Given the description of an element on the screen output the (x, y) to click on. 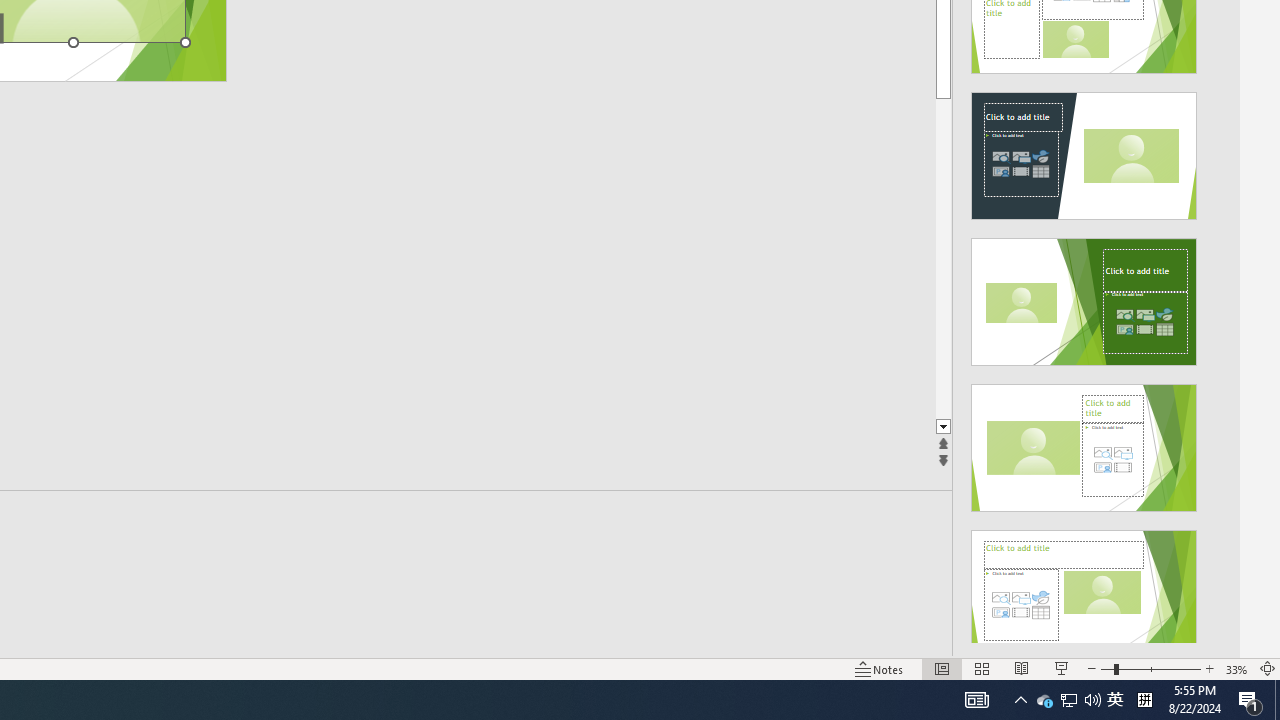
Zoom 33% (1236, 668)
Design Idea (1083, 587)
